Given the description of an element on the screen output the (x, y) to click on. 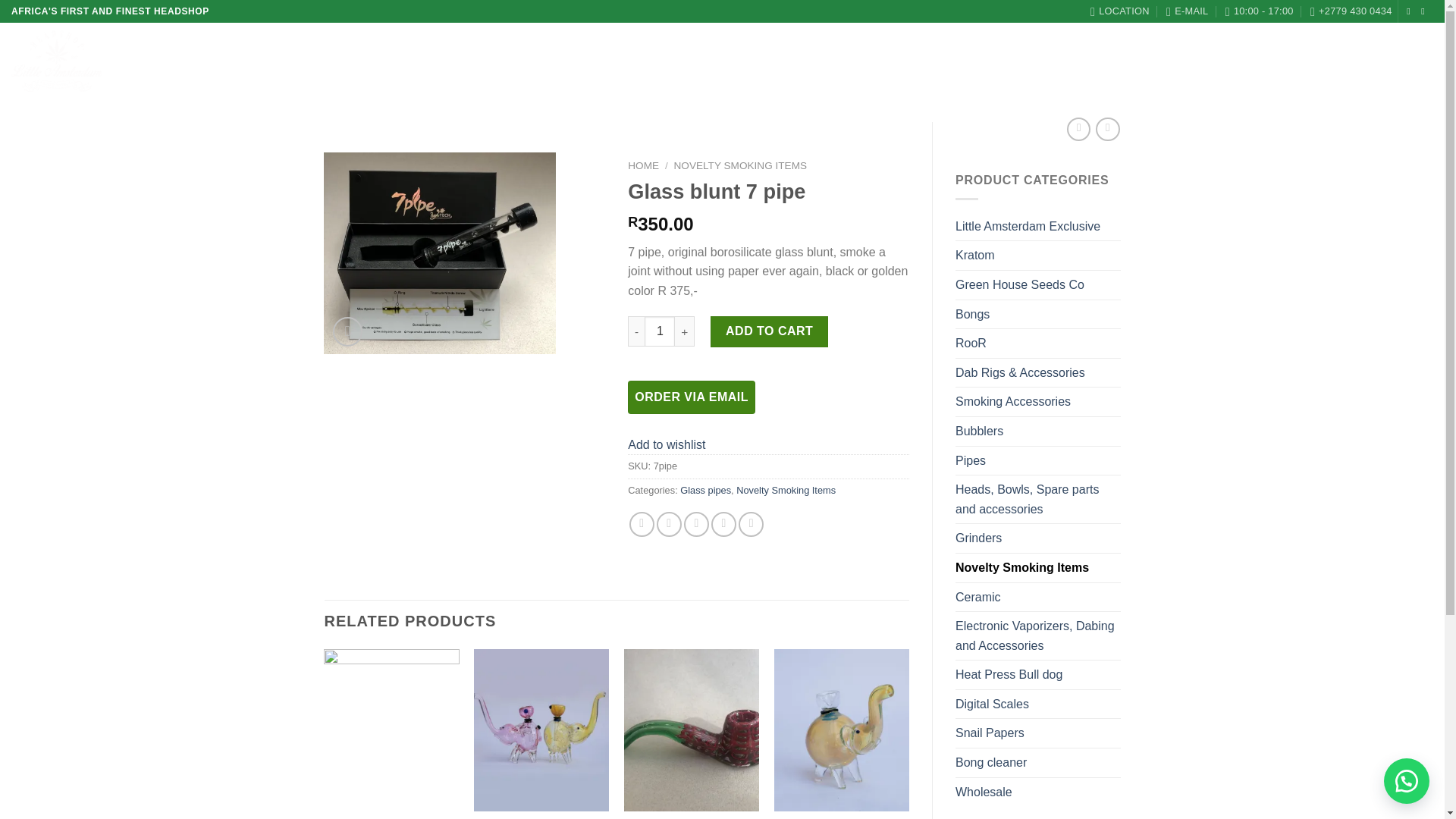
Share on Facebook (640, 524)
Smoking Accessories (1038, 401)
Zoom (347, 331)
4a Buiten Street Cape Town, Western Cape (1120, 11)
Kratom (1038, 255)
1 (660, 331)
8D1BDEFF-016D-48CA-B1C0-5D6661BD8C70 (439, 252)
Pipes (1038, 460)
ORDER VIA EMAIL (691, 397)
